Given the description of an element on the screen output the (x, y) to click on. 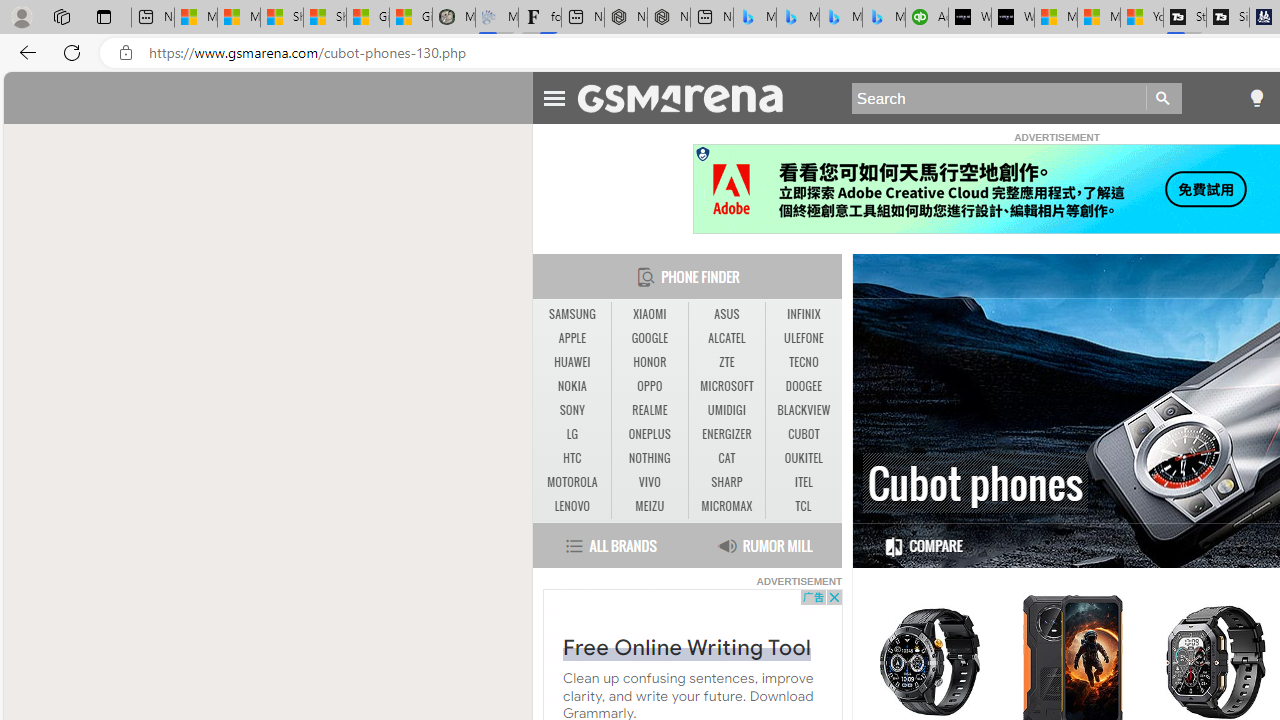
Manatee Mortality Statistics | FWC (453, 17)
MOTOROLA (571, 482)
Nordace - #1 Japanese Best-Seller - Siena Smart Backpack (668, 17)
UMIDIGI (726, 410)
MICROMAX (726, 506)
ITEL (803, 483)
REALME (649, 410)
